Given the description of an element on the screen output the (x, y) to click on. 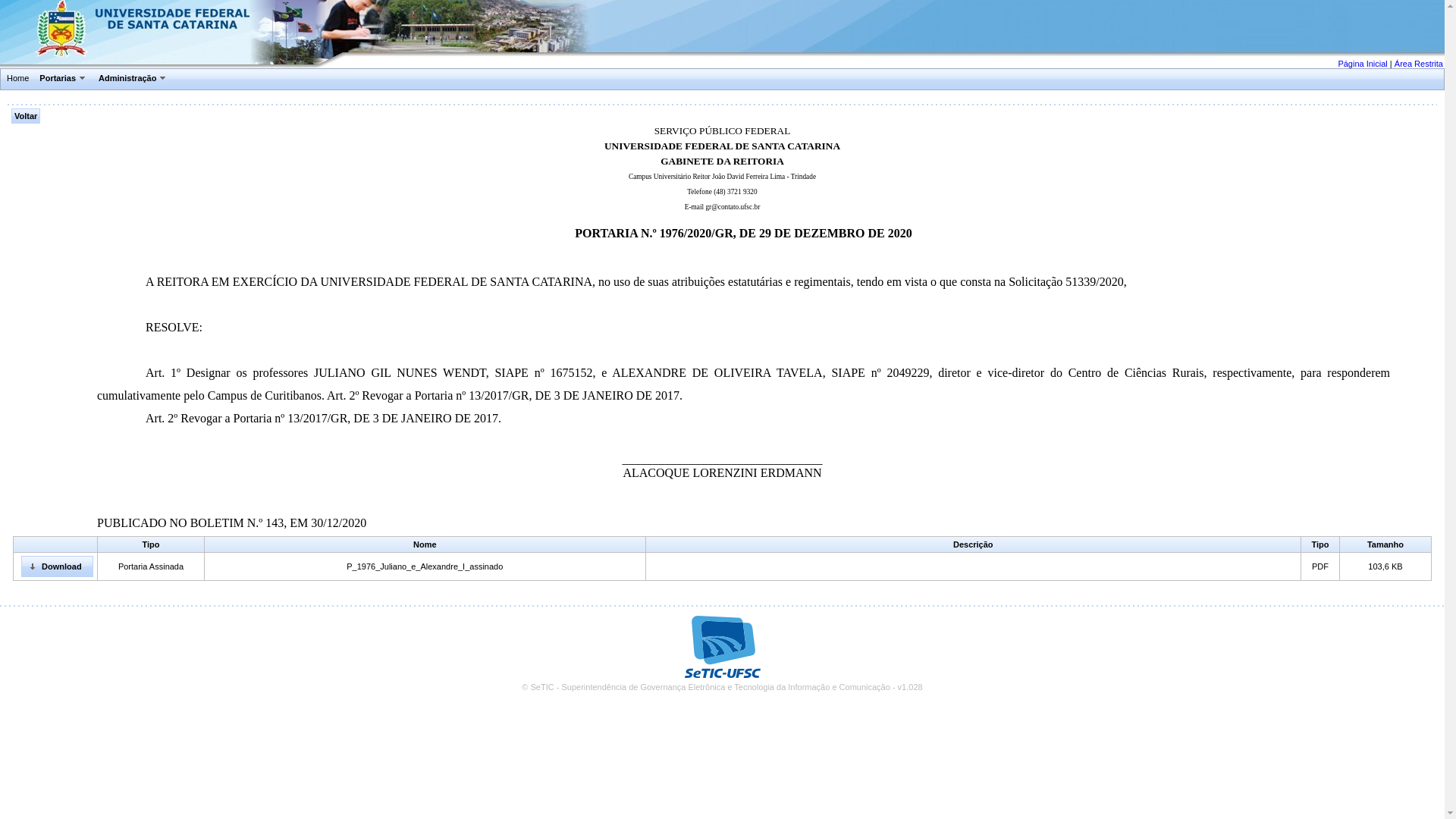
Portarias Element type: text (64, 79)
Home Element type: text (18, 78)
Download Element type: text (57, 566)
Voltar Element type: text (25, 115)
